Given the description of an element on the screen output the (x, y) to click on. 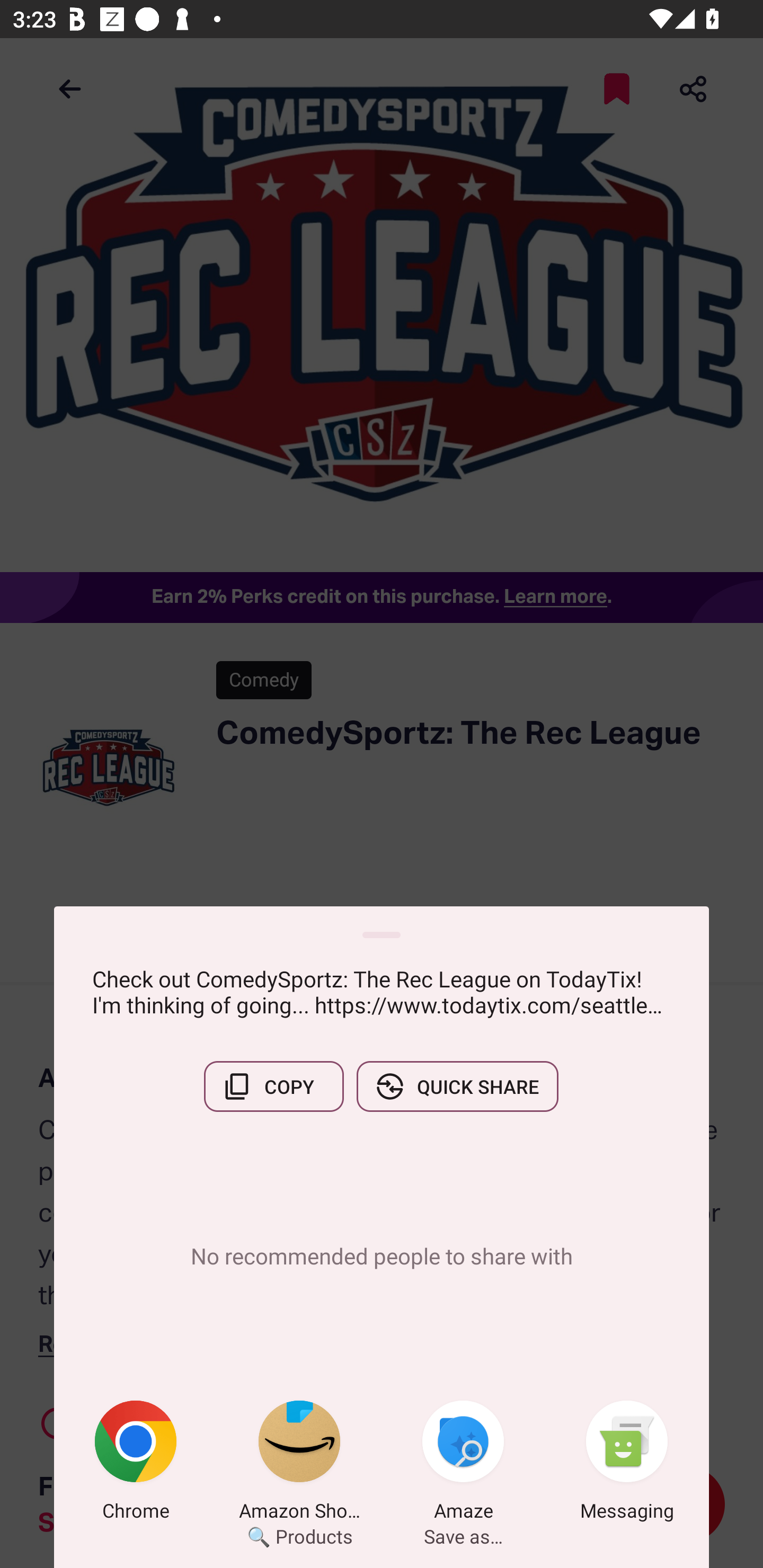
COPY (273, 1086)
QUICK SHARE (457, 1086)
Chrome (135, 1463)
Amazon Shopping 🔍 Products (299, 1463)
Amaze Save as… (463, 1463)
Messaging (626, 1463)
